Given the description of an element on the screen output the (x, y) to click on. 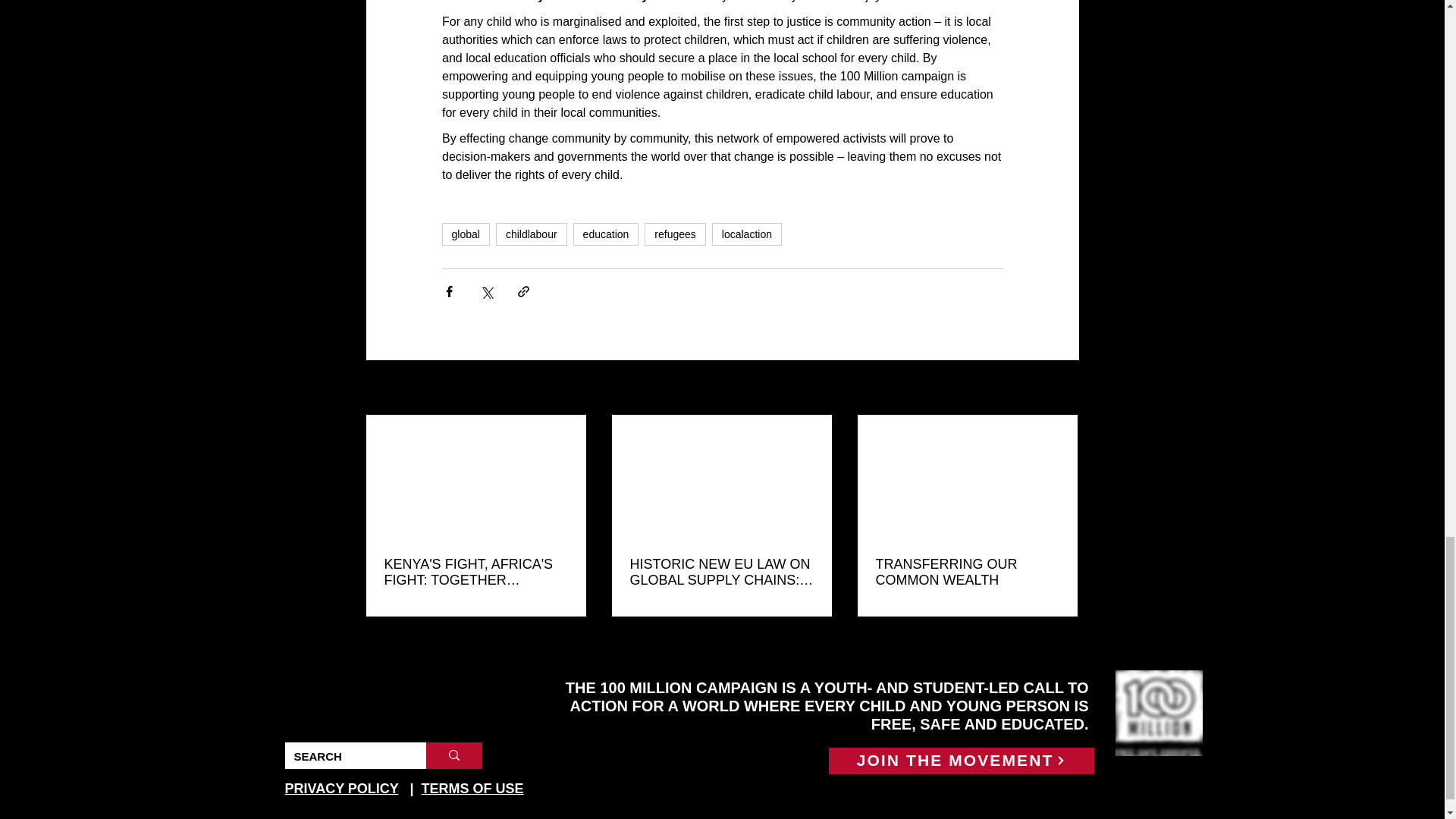
localaction (746, 233)
childlabour (531, 233)
refugees (674, 233)
TRANSFERRING OUR COMMON WEALTH (966, 572)
JOIN THE MOVEMENT (960, 760)
PRIVACY POLICY (341, 788)
education (606, 233)
See All (1061, 388)
global (465, 233)
